Given the description of an element on the screen output the (x, y) to click on. 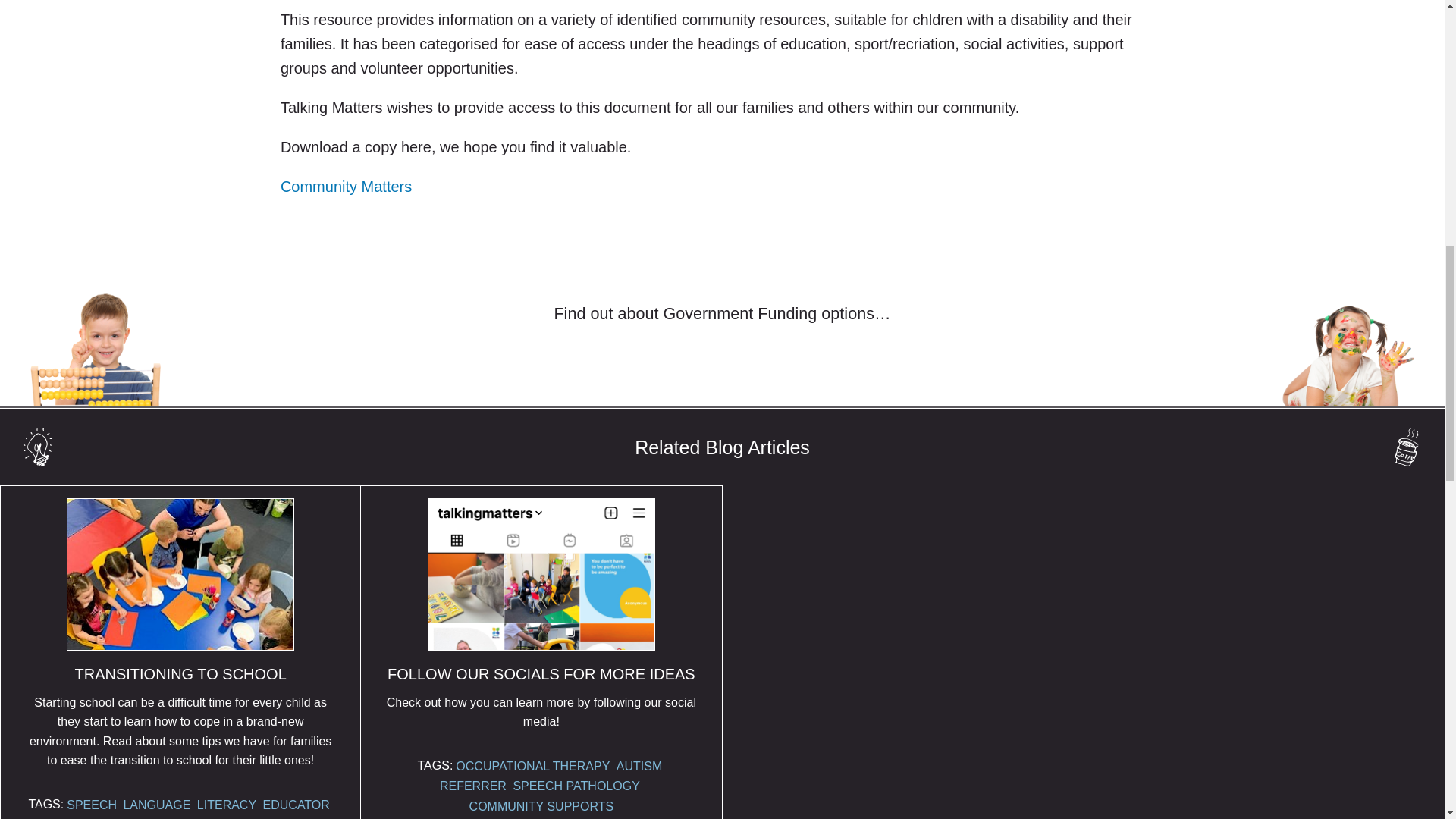
Filter on Speech (91, 804)
Filter on Occupational Therapy (532, 765)
Filter on Language (156, 804)
Filter on Literacy (226, 804)
Filter on Educator (296, 804)
Visit full article (180, 640)
Visit full article (540, 620)
Filter on Community Supports (180, 816)
